Given the description of an element on the screen output the (x, y) to click on. 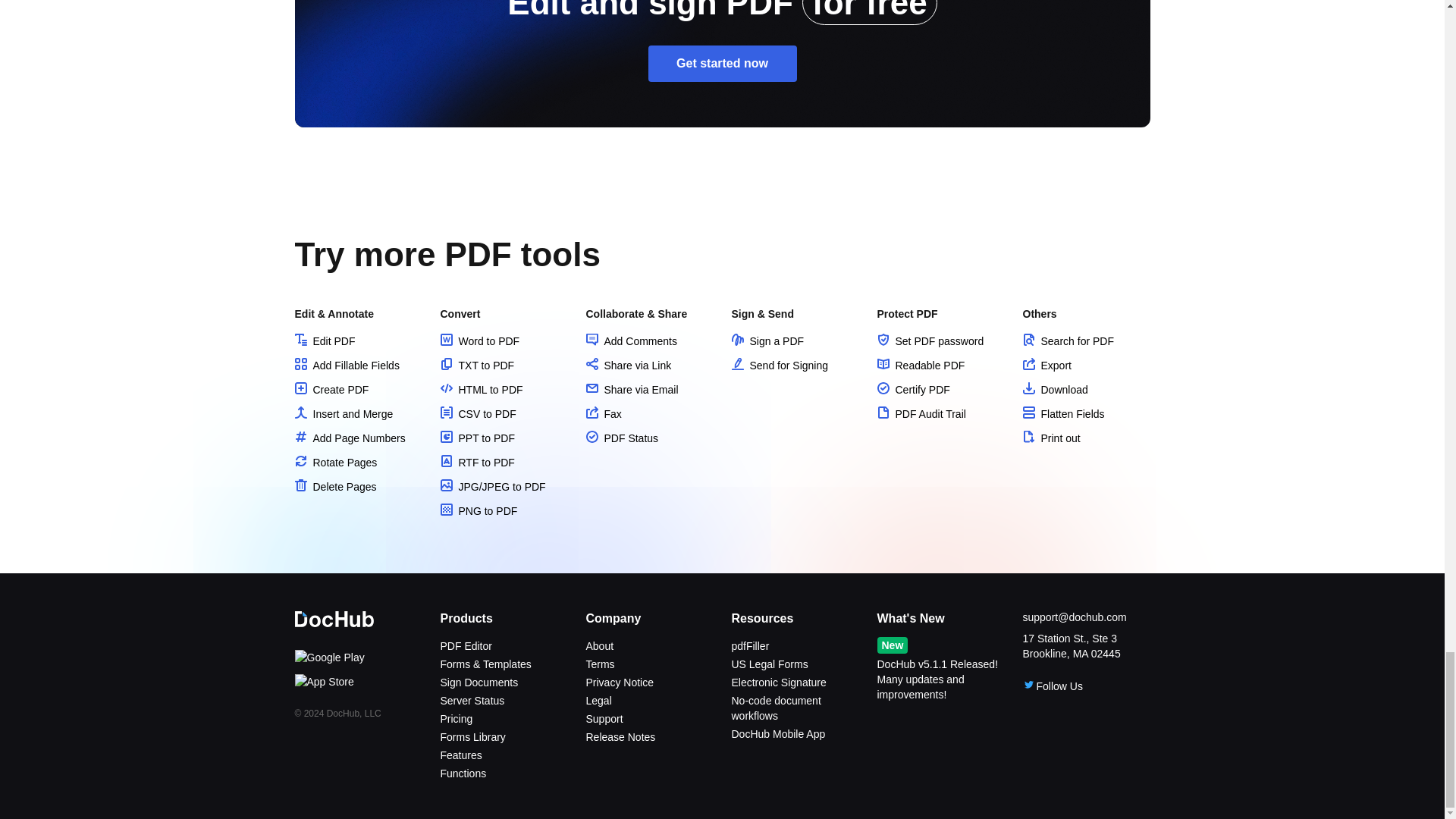
PPT to PDF (476, 438)
CSV to PDF (477, 413)
Delete Pages (334, 486)
HTML to PDF (480, 389)
PDF Status (621, 438)
RTF to PDF (476, 462)
Share via Email (631, 389)
Edit PDF (324, 340)
Add Comments (631, 340)
Add Page Numbers (349, 438)
